Given the description of an element on the screen output the (x, y) to click on. 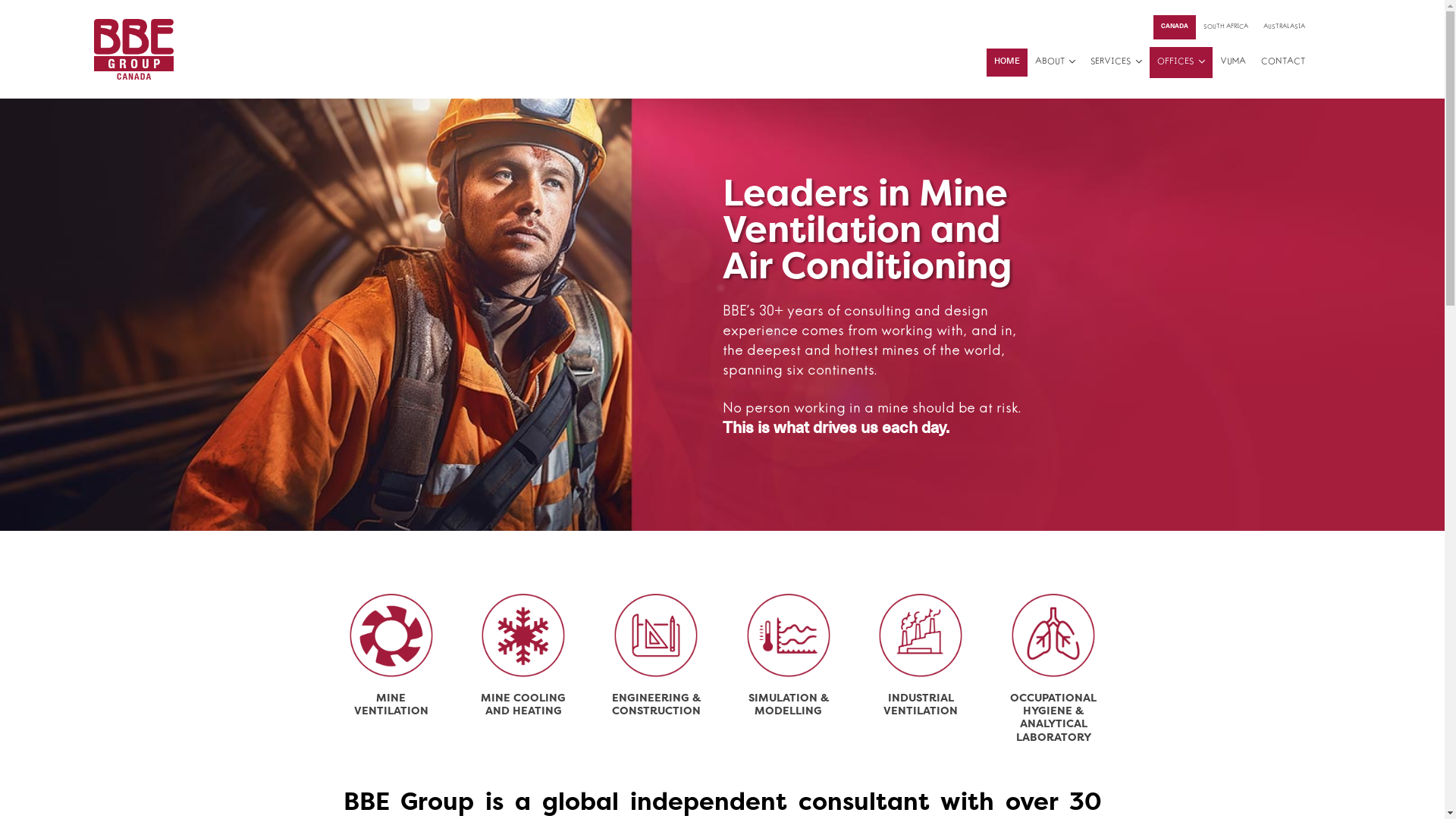
ENGINEERING & CONSTRUCTION Element type: text (656, 704)
Consulting Mine Ventilation Element type: hover (523, 638)
AUSTRALASIA Element type: text (1283, 27)
ABOUT Element type: text (1055, 62)
CANADA Element type: text (1174, 27)
OFFICES Element type: text (1180, 62)
Mine Engineering & Construction Element type: hover (656, 638)
SOUTH AFRICA Element type: text (1225, 27)
OCCUPATIONAL HYGIENE & ANALYTICAL LABORATORY Element type: text (1053, 717)
Ventilation Simulation Training Sessions. Element type: hover (788, 638)
VUMA Element type: text (1232, 62)
HOME Element type: text (1006, 62)
MINE VENTILATION Element type: text (390, 704)
Consulting Occupational Hygiene Element type: hover (1053, 638)
INDUSTRIAL VENTILATION Element type: text (920, 704)
Energy Management Element type: hover (920, 638)
Consulting Refrigeration Cooling Element type: hover (390, 638)
MINE COOLING AND HEATING Element type: text (523, 704)
SERVICES Element type: text (1115, 62)
SIMULATION & MODELLING Element type: text (788, 704)
CONTACT Element type: text (1282, 62)
